Given the description of an element on the screen output the (x, y) to click on. 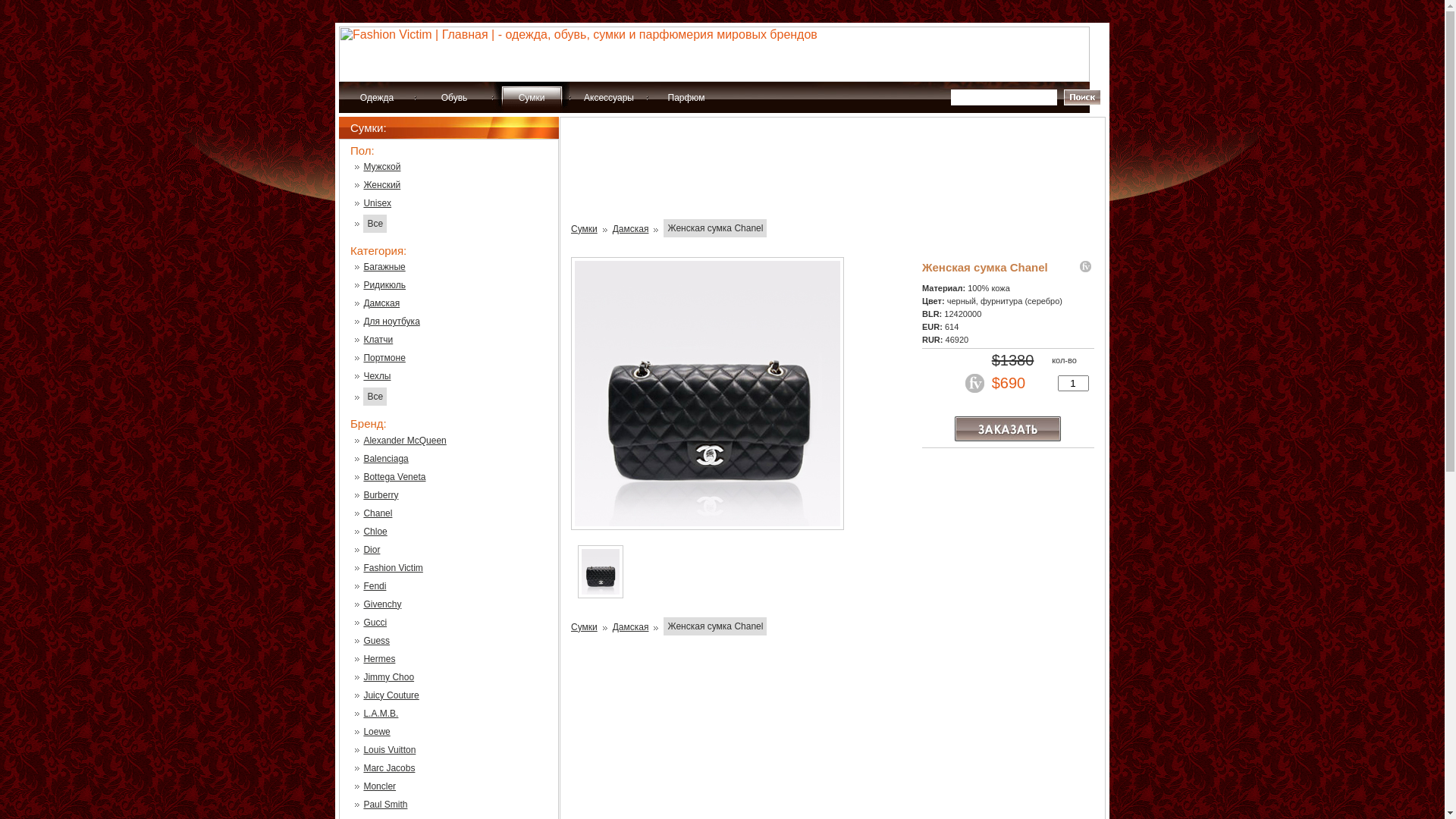
Paul Smith Element type: text (385, 804)
Gucci Element type: text (374, 622)
Fashion Victim Element type: text (392, 567)
Louis Vuitton Element type: text (389, 749)
Loewe Element type: text (376, 731)
Jimmy Choo Element type: text (388, 676)
Fendi Element type: text (374, 585)
Burberry Element type: text (380, 494)
Marc Jacobs Element type: text (388, 767)
L.A.M.B. Element type: text (380, 713)
Unisex Element type: text (377, 202)
Chloe Element type: text (374, 531)
Advertisement Element type: hover (832, 173)
Hermes Element type: text (379, 658)
Moncler Element type: text (379, 786)
Bottega Veneta Element type: text (394, 476)
Guess Element type: text (376, 640)
Balenciaga Element type: text (385, 458)
Juicy Couture Element type: text (390, 695)
Alexander McQueen Element type: text (404, 440)
Chanel Element type: text (377, 513)
Dior Element type: text (371, 549)
Givenchy Element type: text (382, 604)
